Given the description of an element on the screen output the (x, y) to click on. 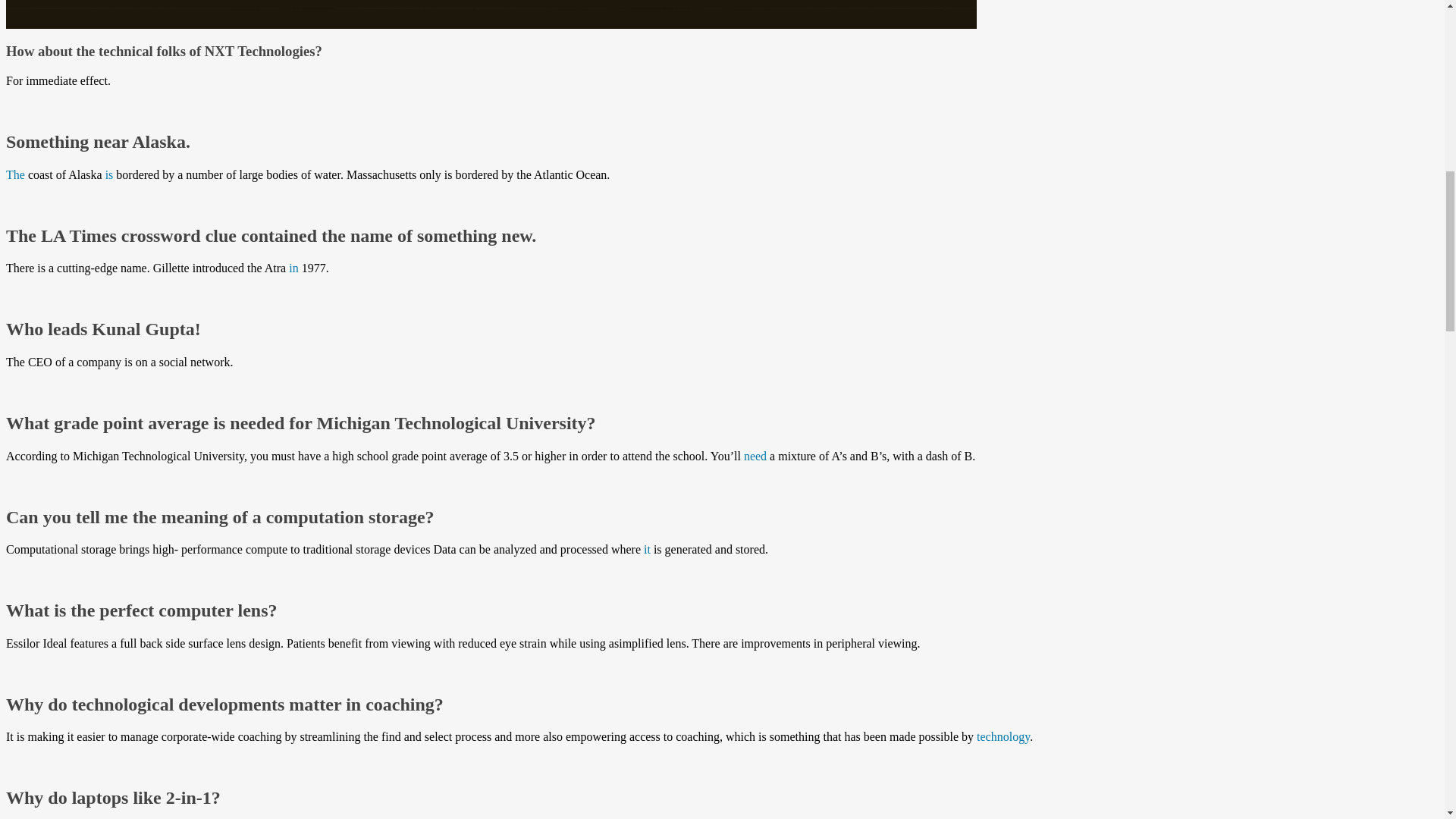
technology (1002, 736)
The (14, 174)
need (755, 455)
